Given the description of an element on the screen output the (x, y) to click on. 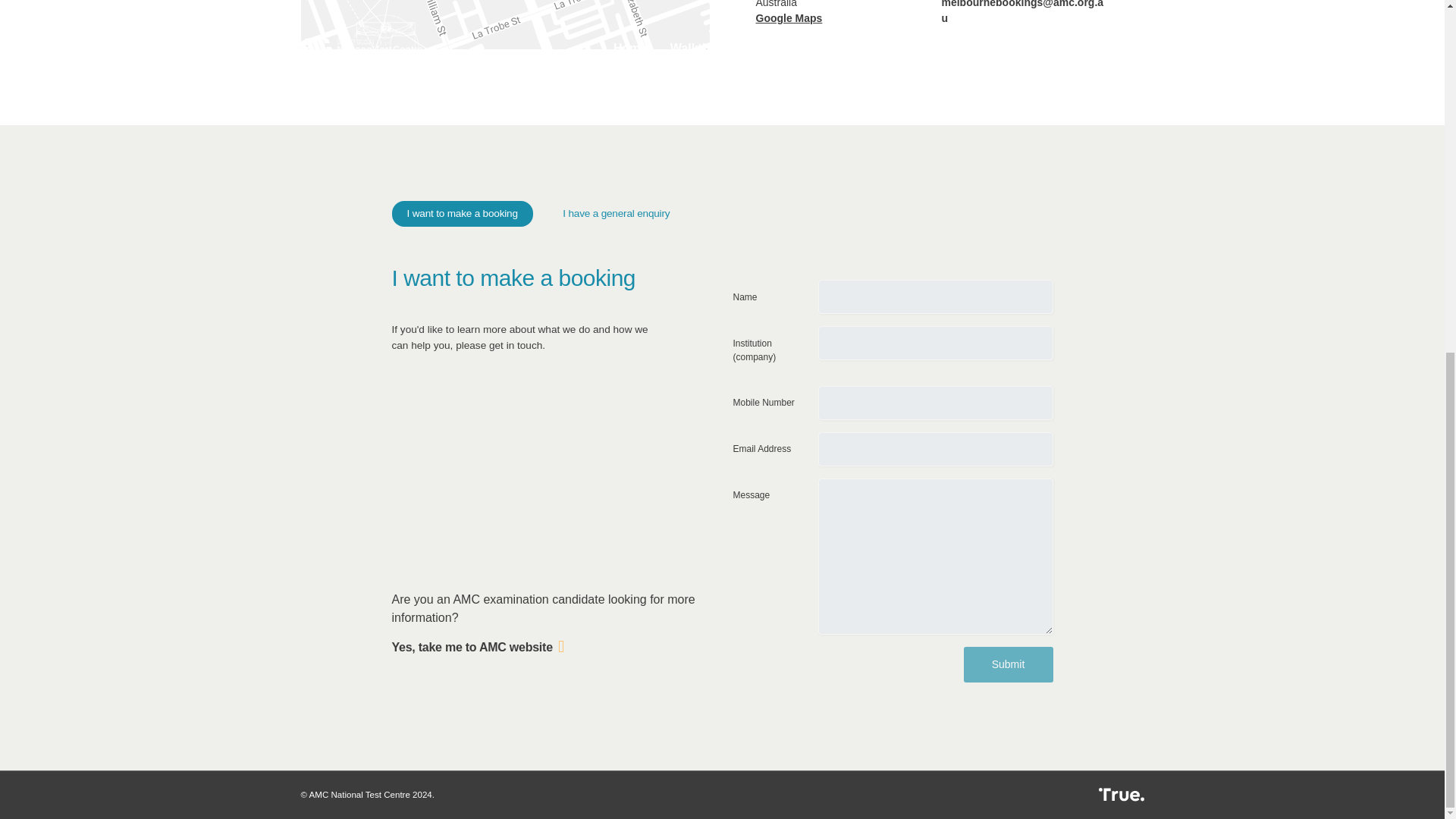
Yes, take me to AMC website (477, 646)
trueagency.com.au (1085, 795)
Web Design Melbourne (1085, 795)
Submit (1007, 664)
Submit (315, 664)
Submit (1007, 664)
Google Maps (788, 18)
